Given the description of an element on the screen output the (x, y) to click on. 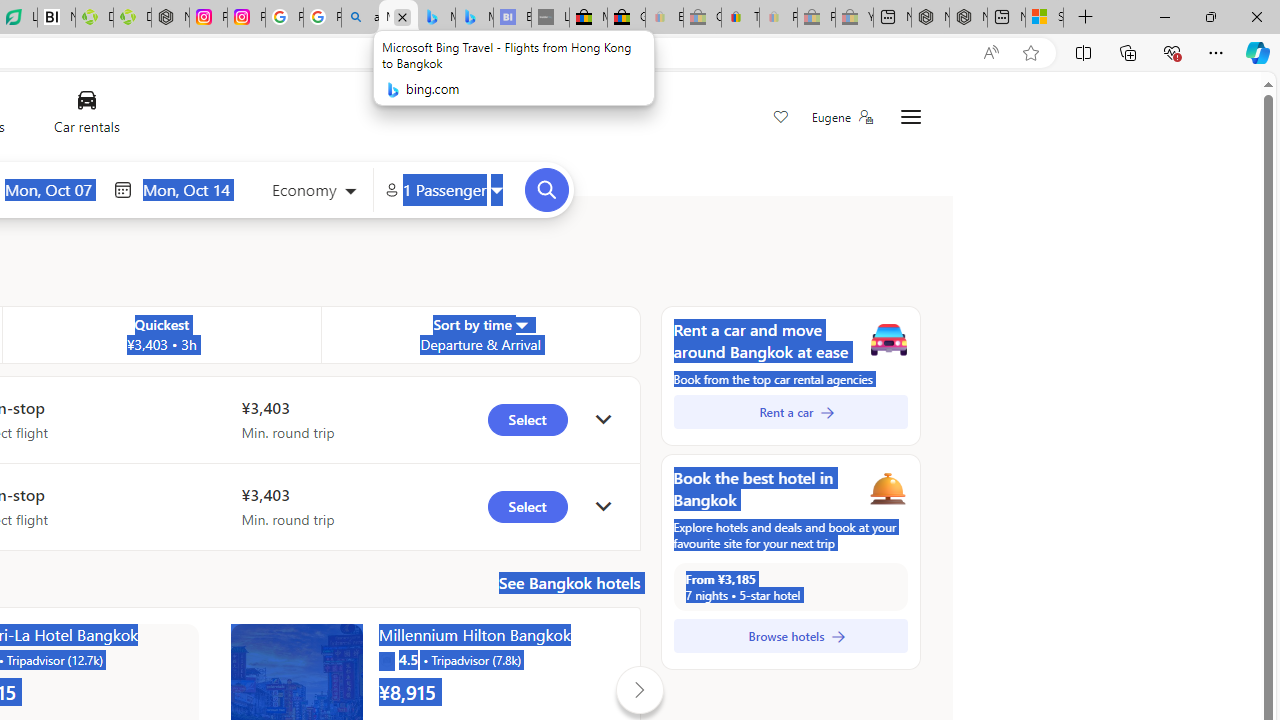
Car rentals (85, 116)
1 Passenger (443, 189)
Nordace - Summer Adventures 2024 (967, 17)
alabama high school quarterback dies - Search (359, 17)
Rent a car (790, 412)
